Given the description of an element on the screen output the (x, y) to click on. 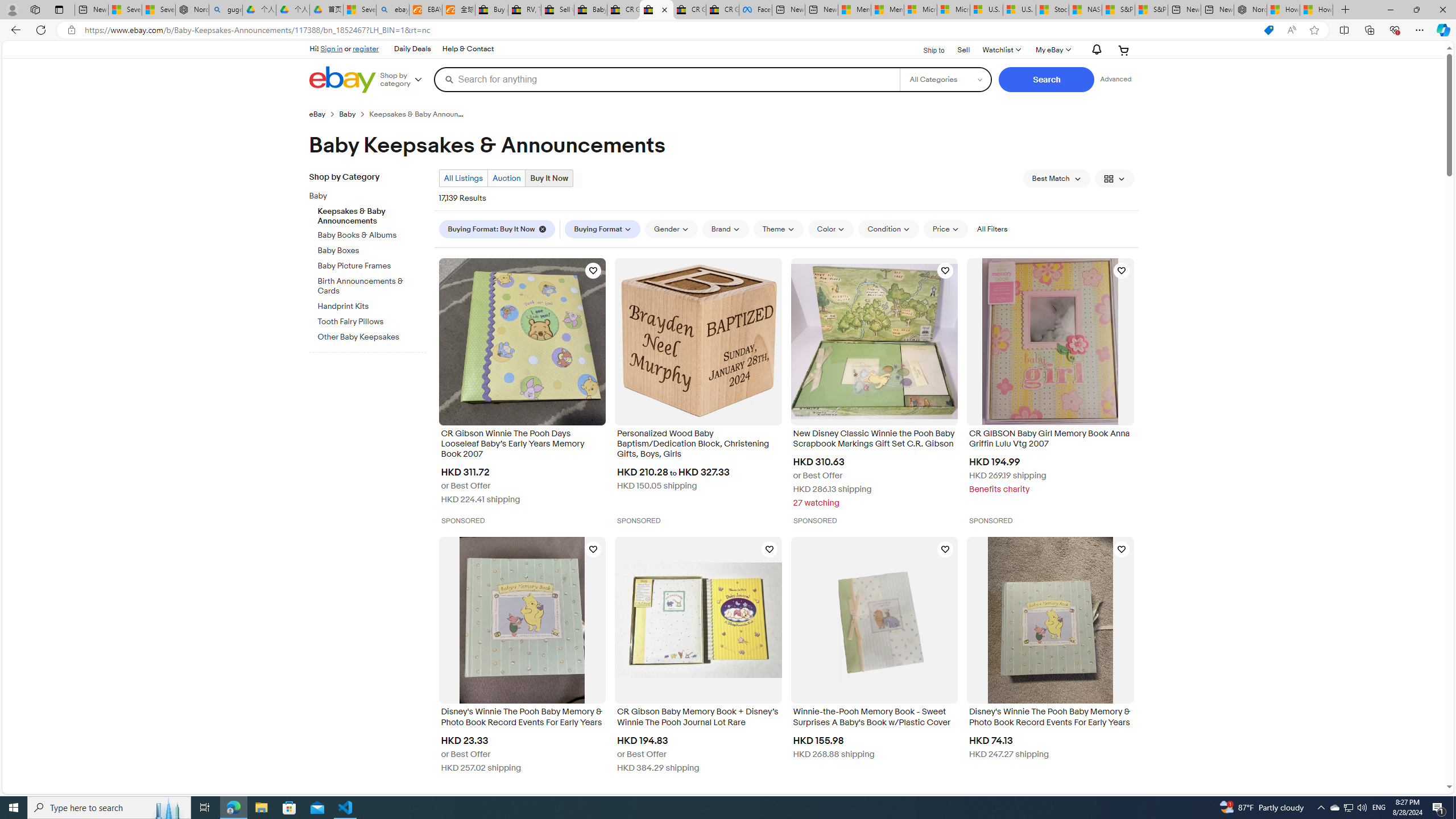
Brand (724, 229)
Other Baby Keepsakes (371, 337)
All Filters (991, 229)
Brand (724, 229)
Select a category for search (945, 78)
Color (831, 229)
Buying Format (602, 229)
Tooth Fairy Pillows (371, 321)
Baby Books & Albums (371, 235)
WatchlistExpand Watch List (1000, 49)
